Given the description of an element on the screen output the (x, y) to click on. 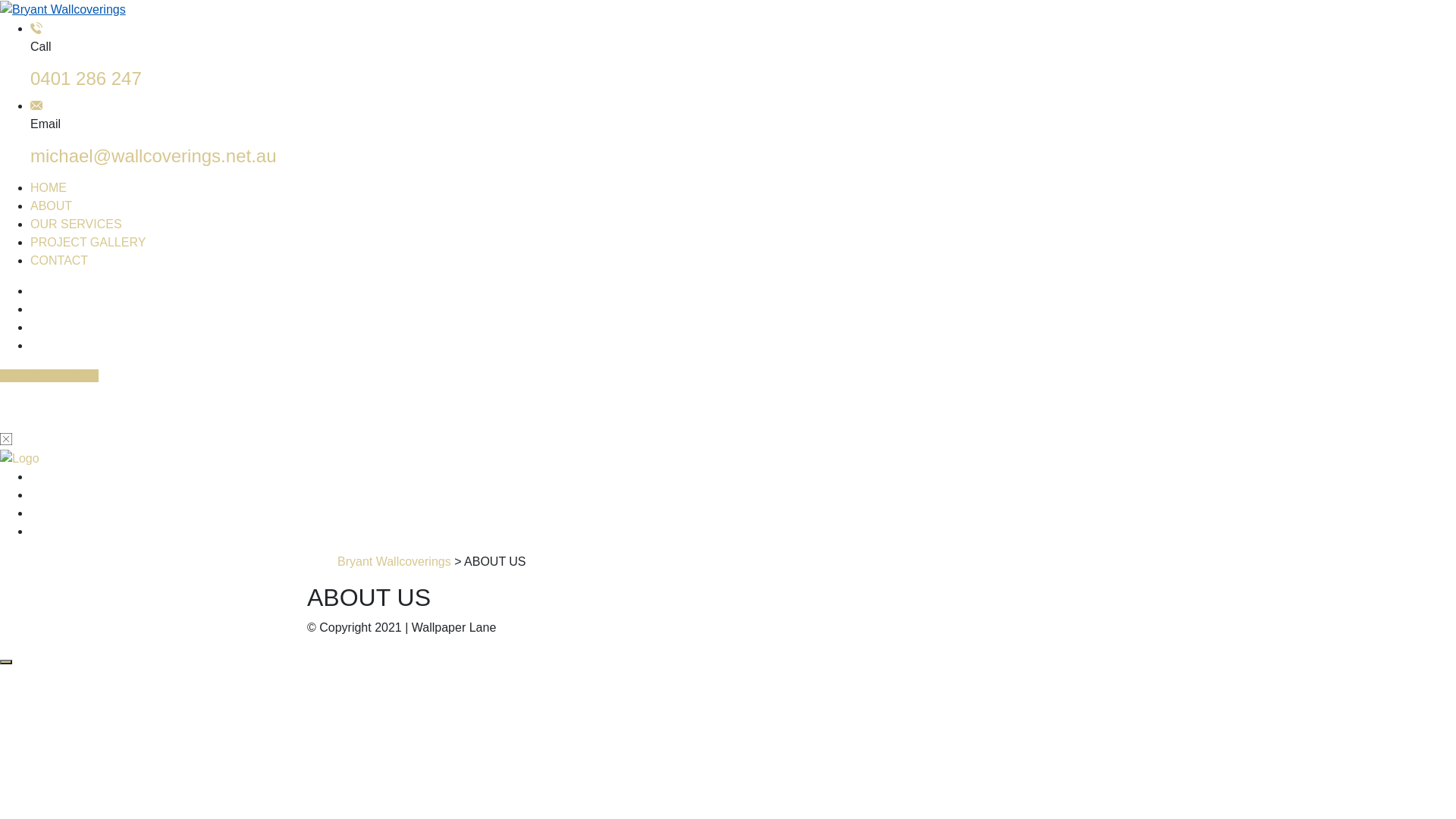
CONTACT Element type: text (58, 260)
OUR SERVICES Element type: text (76, 223)
HOME Element type: text (48, 187)
Book Appointment Element type: text (49, 375)
PROJECT GALLERY Element type: text (87, 241)
michael@wallcoverings.net.au Element type: text (153, 155)
Bryant Wallcoverings Element type: text (394, 561)
0401 286 247 Element type: text (85, 78)
ABOUT Element type: text (51, 205)
